Given the description of an element on the screen output the (x, y) to click on. 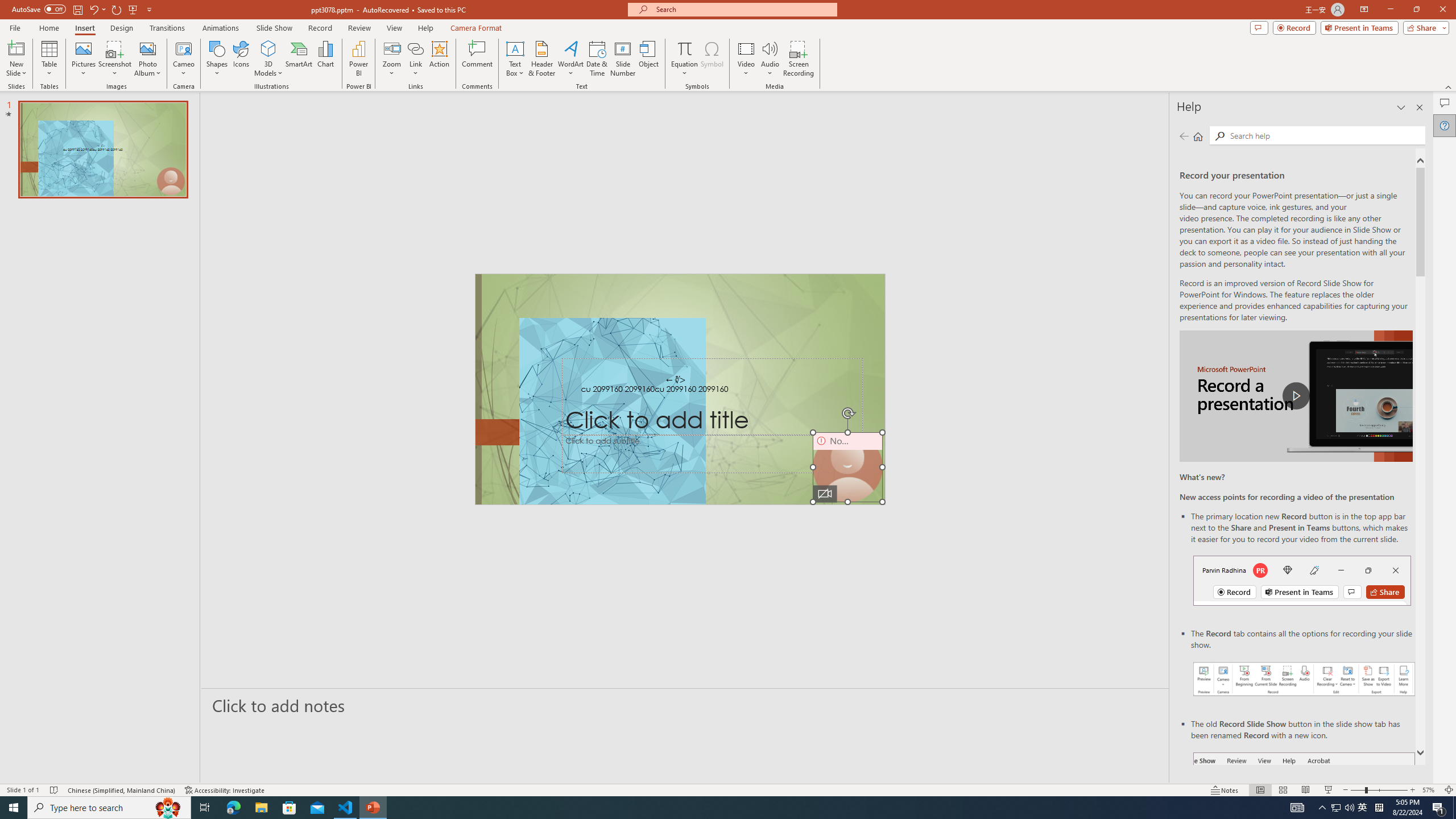
Icons (240, 58)
Equation (683, 48)
Camera Format (475, 28)
3D Models (268, 48)
play Record a Presentation (1296, 395)
Previous page (1183, 136)
TextBox 7 (675, 380)
Power BI (358, 58)
